Given the description of an element on the screen output the (x, y) to click on. 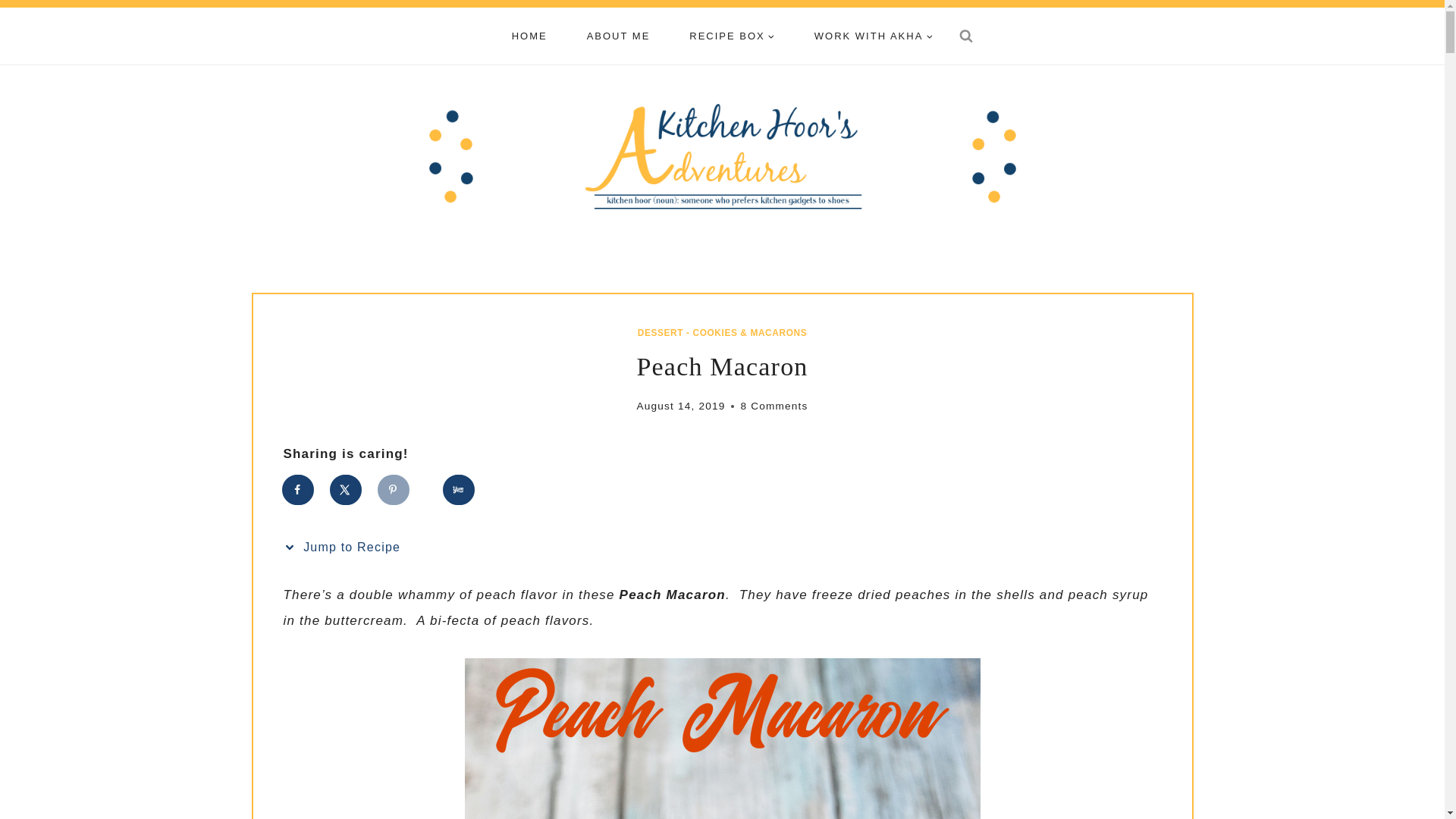
WORK WITH AKHA (873, 35)
8 Comments (773, 405)
8 Comments (773, 405)
ABOUT ME (618, 35)
Share on X (346, 490)
Save to Pinterest (393, 490)
Share on Yummly (459, 490)
Share on Facebook (298, 490)
HOME (529, 35)
Jump to Recipe (346, 547)
RECIPE BOX (731, 35)
